Given the description of an element on the screen output the (x, y) to click on. 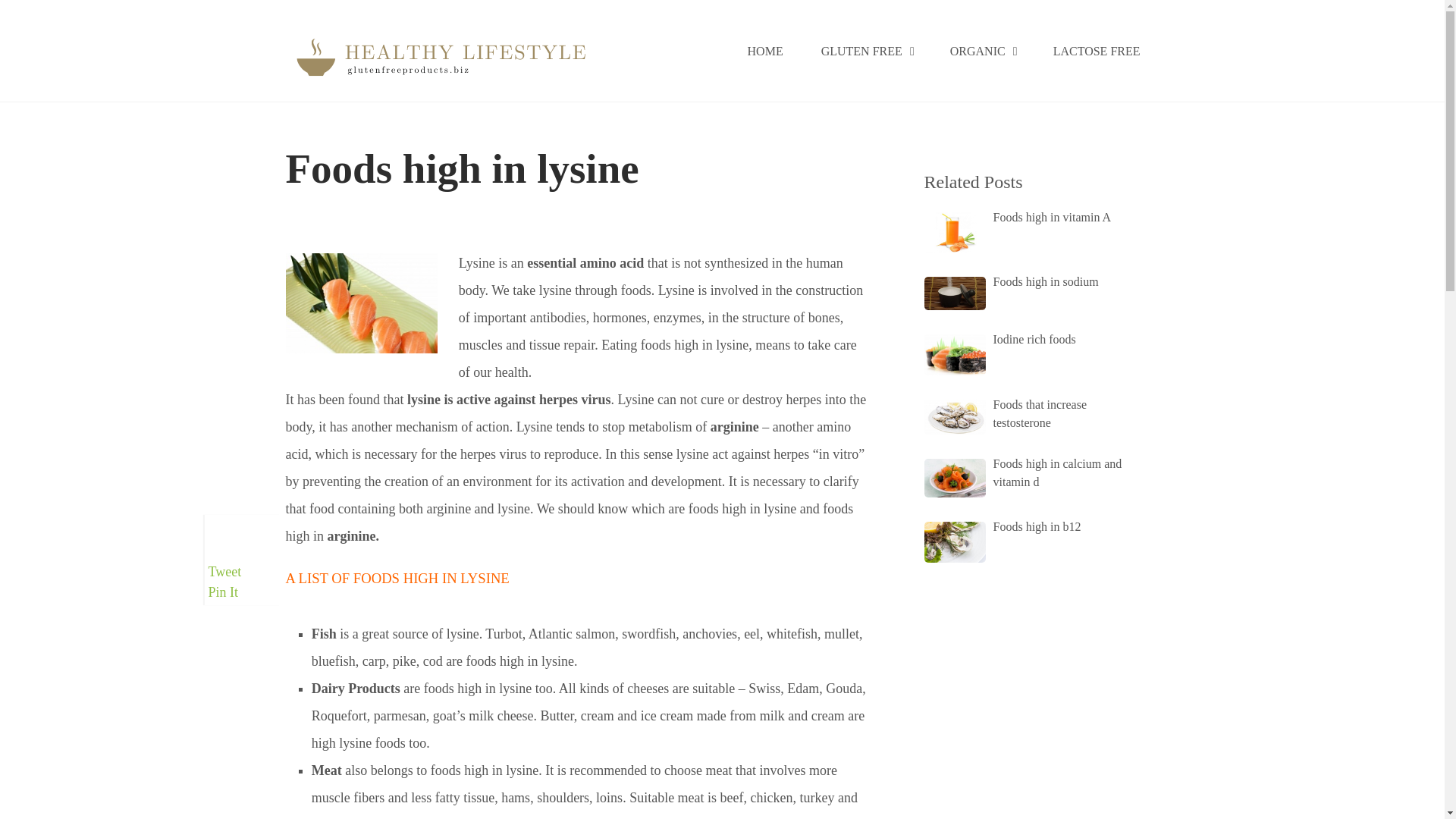
Foods high in sodium (1029, 281)
Tweet (224, 571)
HOME (765, 51)
Foods high in b12 (1029, 526)
GLUTEN FREE (866, 51)
Foods high in calcium and vitamin d (1029, 473)
Foods high in nutrients (348, 219)
Pin It (223, 591)
ORGANIC (982, 51)
Iodine rich foods (1029, 339)
